Given the description of an element on the screen output the (x, y) to click on. 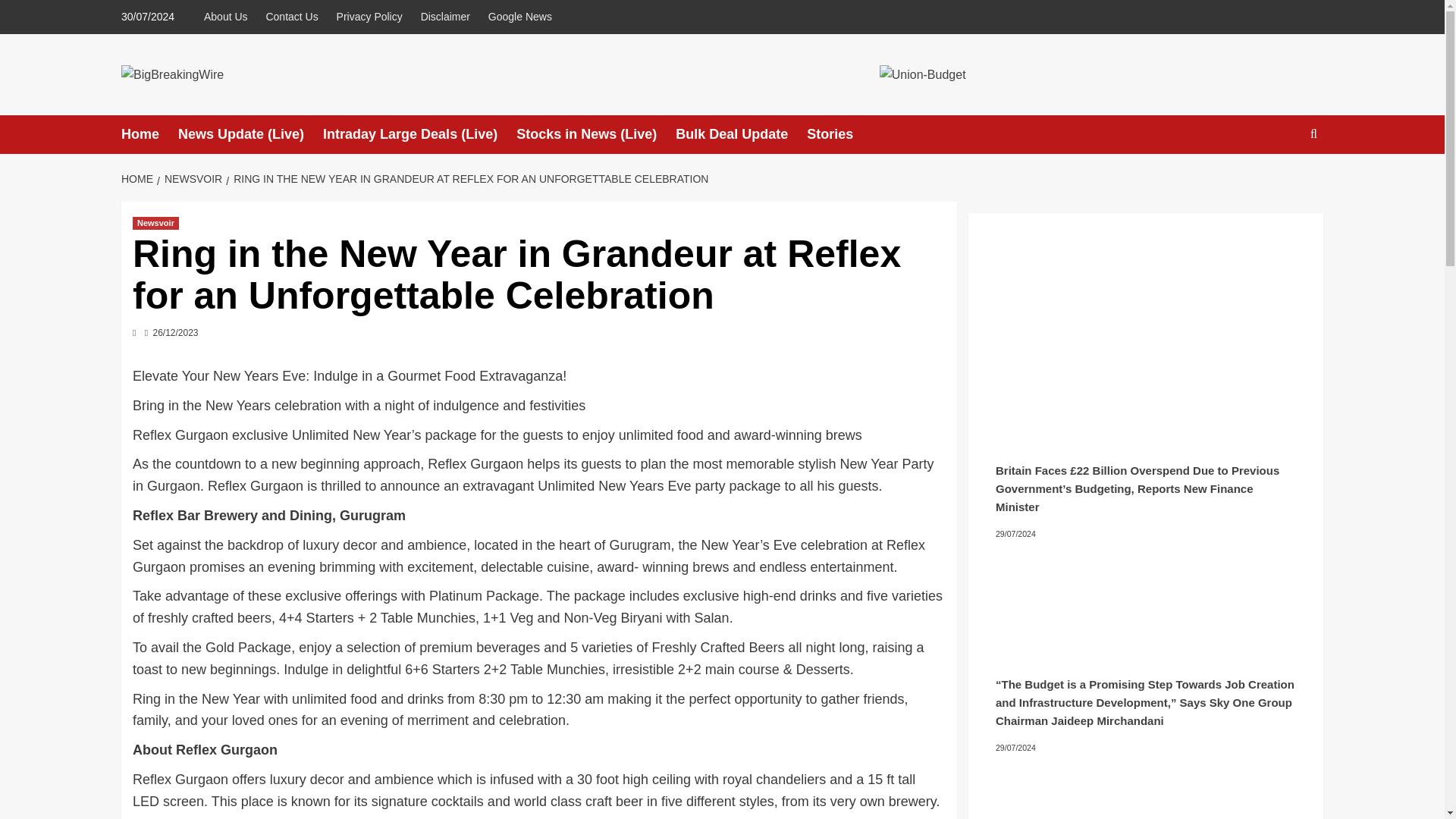
NEWSVOIR (191, 178)
Newsvoir (155, 223)
About Us (229, 17)
Home (148, 134)
Search (1278, 180)
Disclaimer (445, 17)
HOME (138, 178)
Privacy Policy (369, 17)
Contact Us (290, 17)
Stories (839, 134)
Bulk Deal Update (740, 134)
Google News (519, 17)
